Given the description of an element on the screen output the (x, y) to click on. 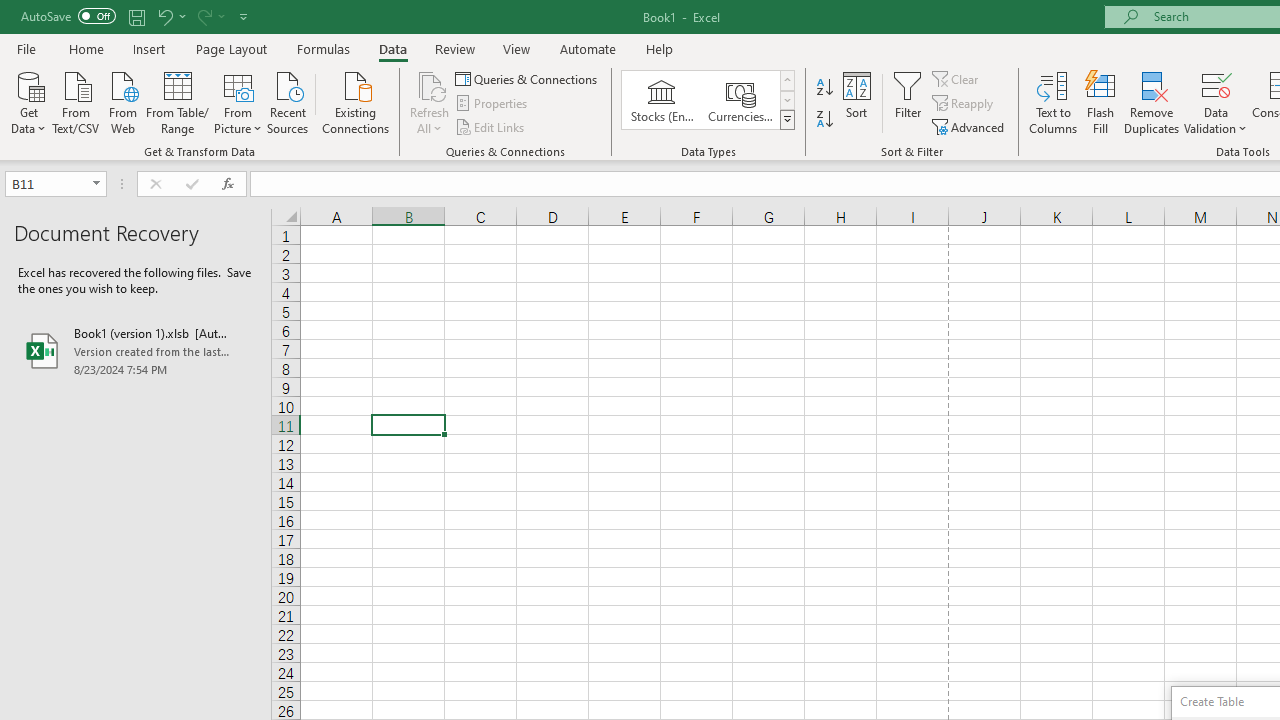
Stocks (English) (662, 100)
From Picture (238, 101)
Recent Sources (287, 101)
Row up (786, 79)
Data (392, 48)
Class: NetUIImage (787, 119)
Currencies (English) (740, 100)
Home (86, 48)
Review (454, 48)
Formulas (323, 48)
Open (96, 183)
View (517, 48)
File Tab (26, 48)
